Given the description of an element on the screen output the (x, y) to click on. 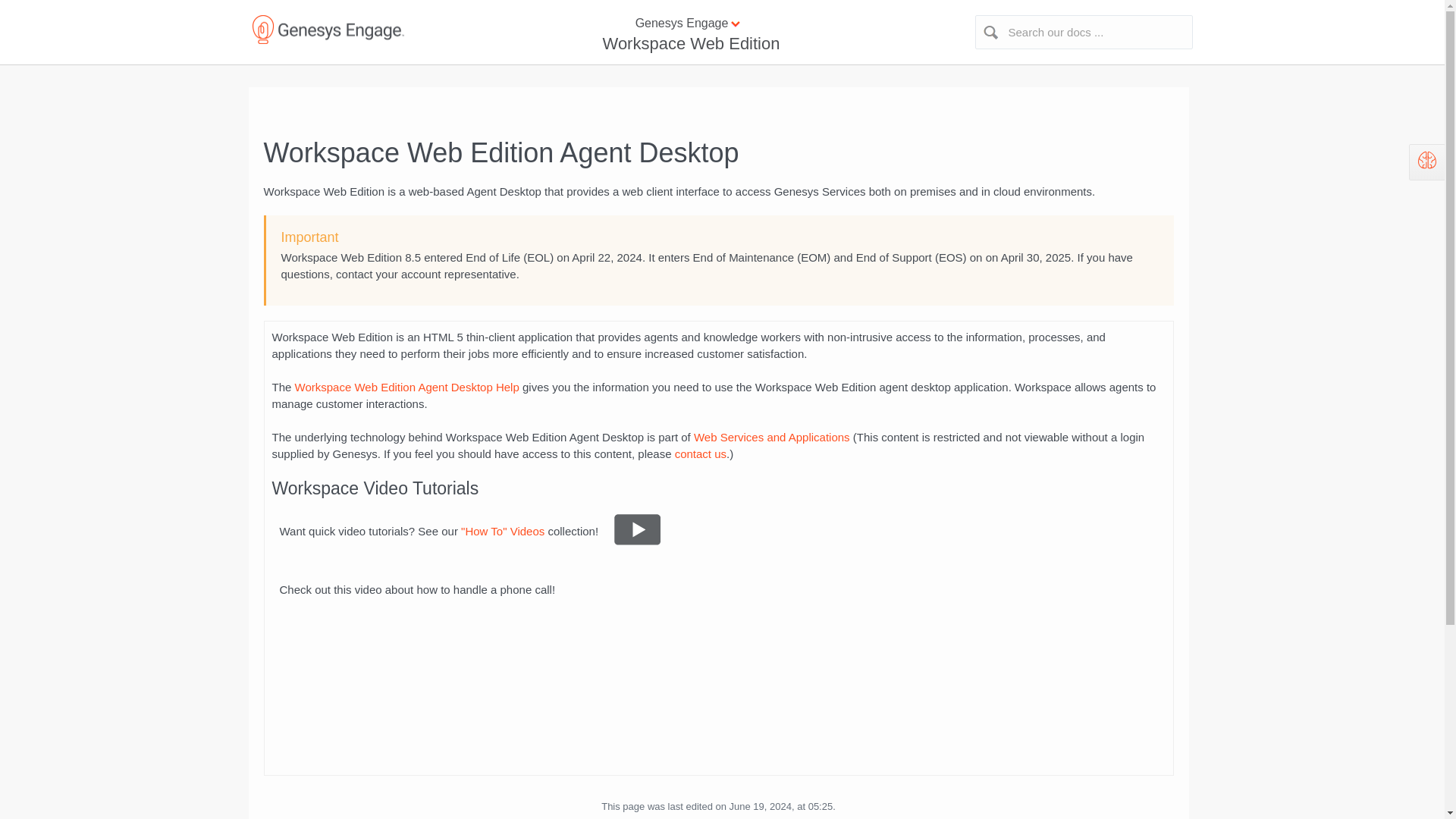
Click to expand (721, 23)
Workspace Web Edition (689, 43)
Documentation:GC:Agent:Videos:v852 (636, 540)
